Given the description of an element on the screen output the (x, y) to click on. 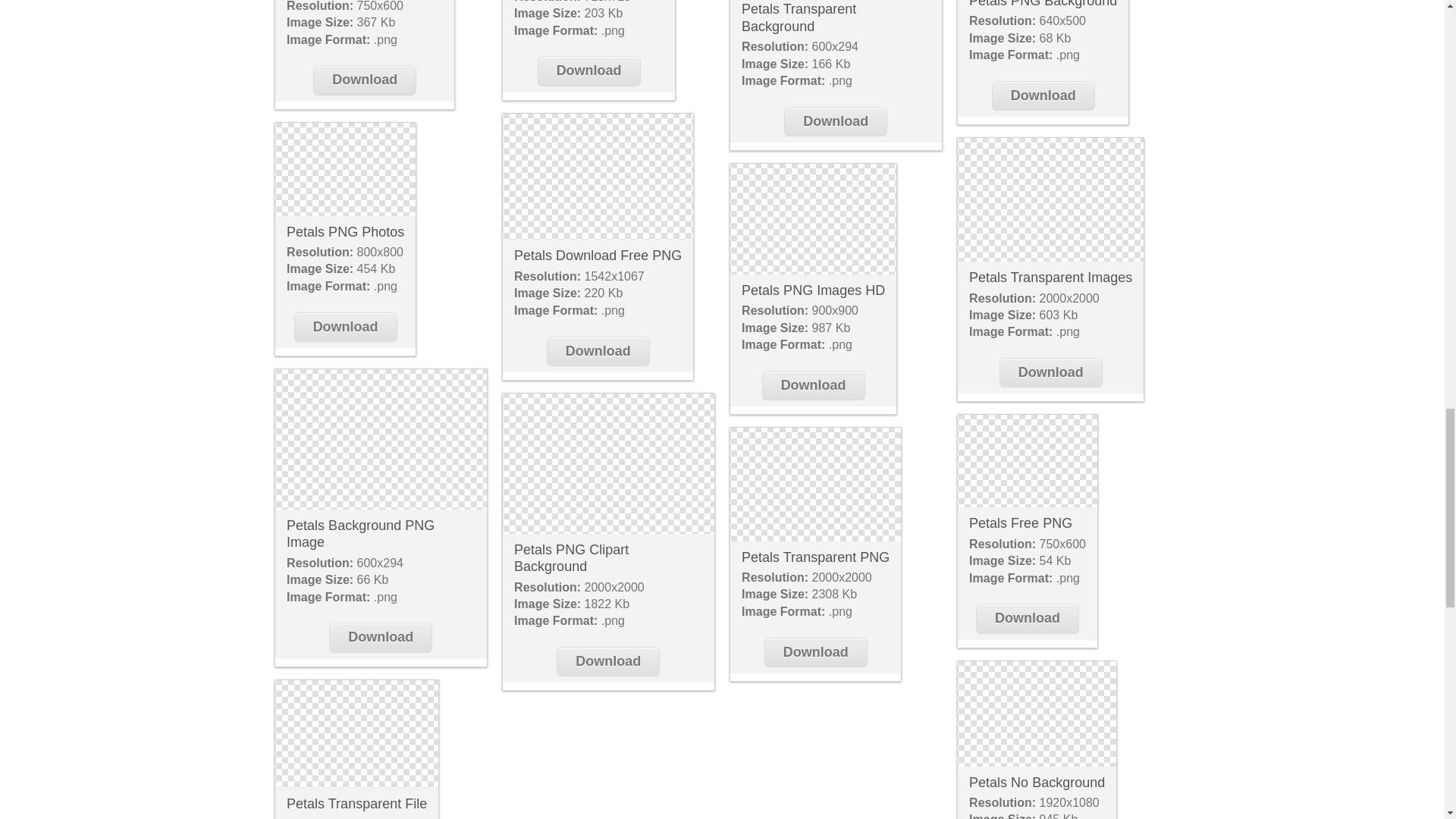
Petals PNG Photos (344, 169)
Petals PNG Images HD (813, 218)
Petals PNG Photos (345, 231)
Petals Download Free PNG (597, 176)
Petals Transparent File (356, 734)
Download (607, 661)
Petals PNG Clipart Background (570, 558)
Petals Background PNG Image (359, 533)
Petals PNG Clipart Background (607, 463)
Petals Transparent File (356, 803)
Download (598, 351)
Download (345, 327)
Download (364, 80)
Petals Download Free PNG (597, 255)
Petals Background PNG Image (380, 439)
